Given the description of an element on the screen output the (x, y) to click on. 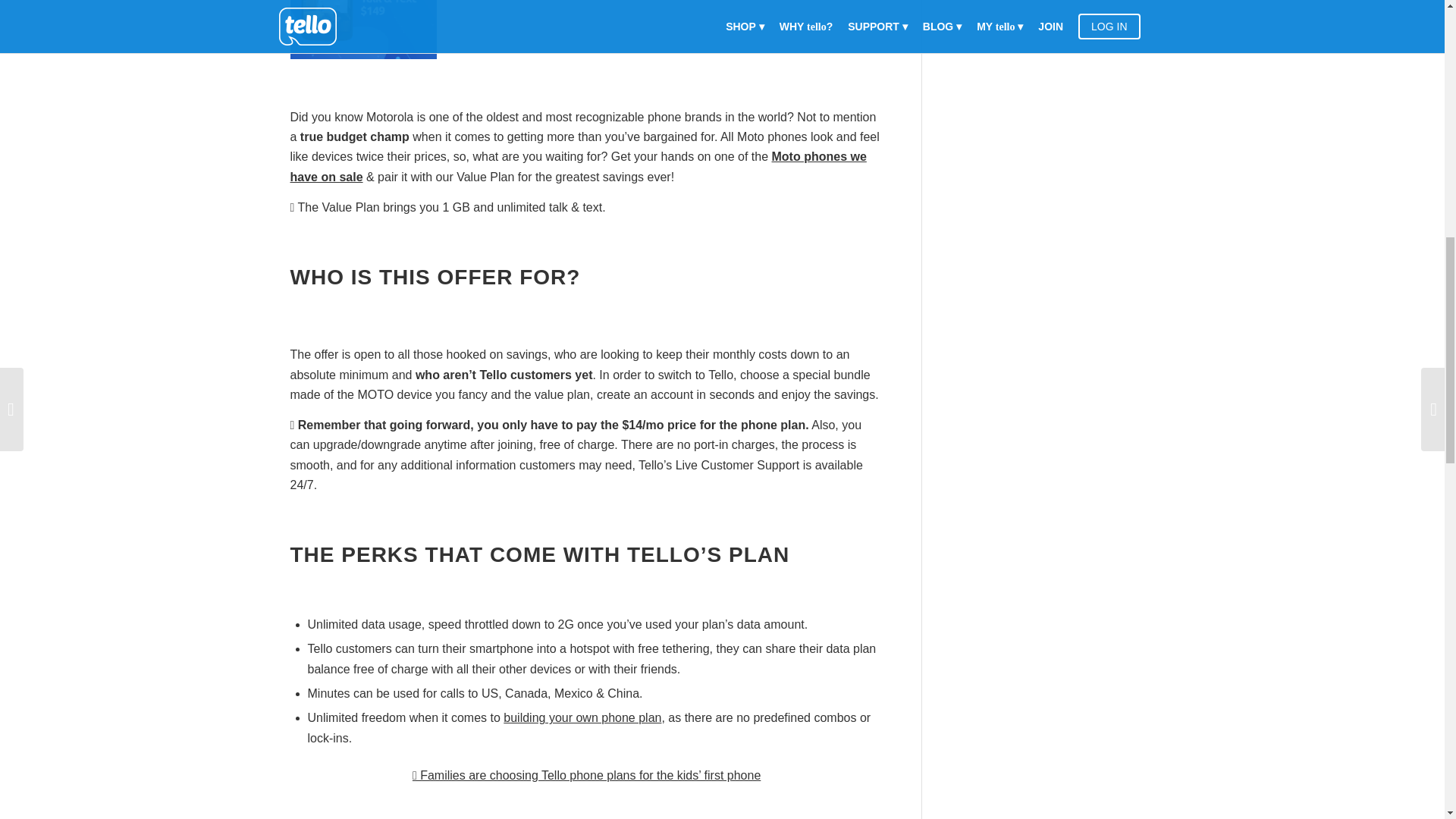
Moto phones we have on sale (577, 165)
building your own phone plan (582, 717)
